Given the description of an element on the screen output the (x, y) to click on. 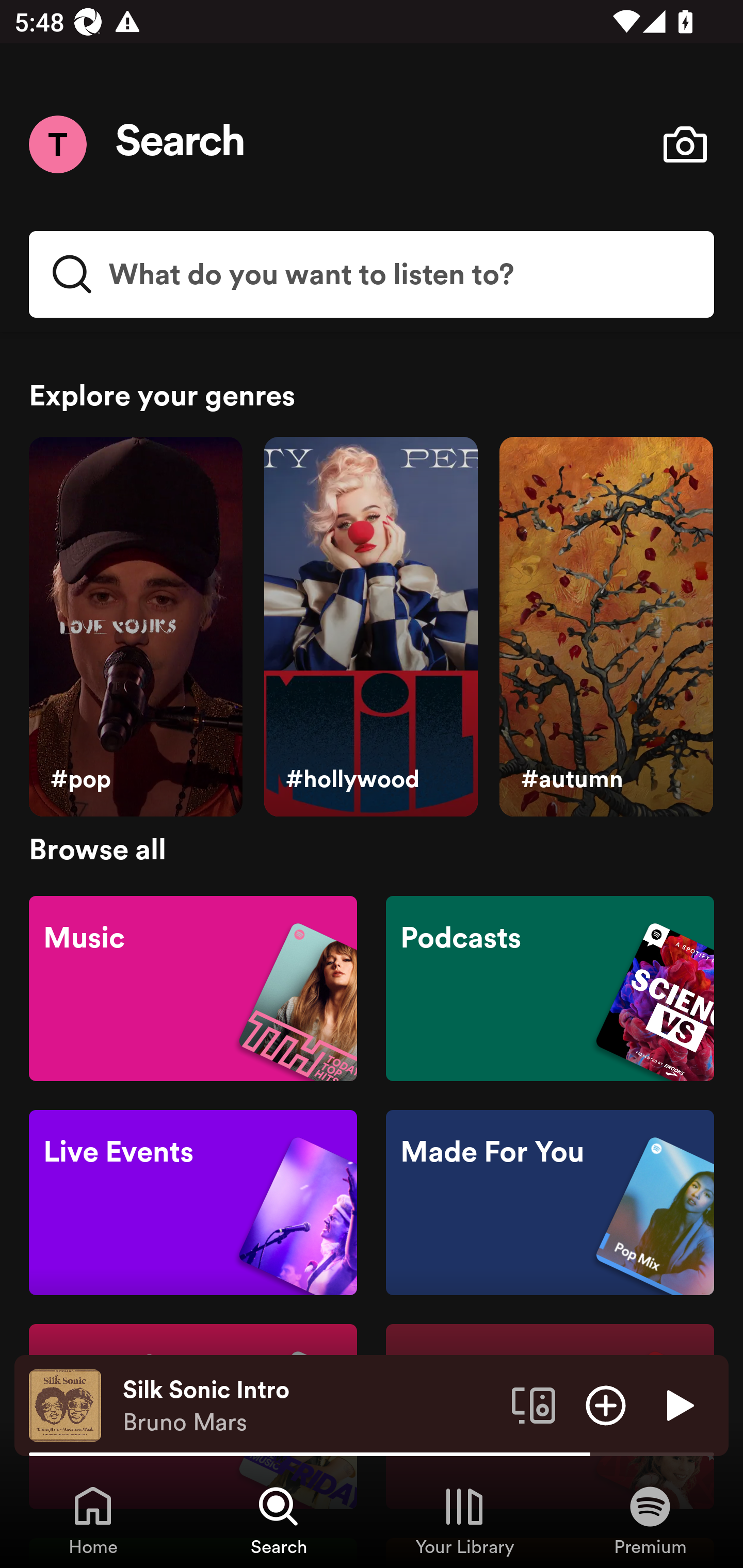
Menu (57, 144)
Open camera (685, 145)
Search (180, 144)
#pop (135, 626)
#hollywood (370, 626)
#autumn (606, 626)
Music (192, 987)
Podcasts (549, 987)
Live Events (192, 1202)
Made For You (549, 1202)
Silk Sonic Intro Bruno Mars (309, 1405)
The cover art of the currently playing track (64, 1404)
Connect to a device. Opens the devices menu (533, 1404)
Add item (605, 1404)
Play (677, 1404)
Home, Tab 1 of 4 Home Home (92, 1519)
Search, Tab 2 of 4 Search Search (278, 1519)
Your Library, Tab 3 of 4 Your Library Your Library (464, 1519)
Premium, Tab 4 of 4 Premium Premium (650, 1519)
